Given the description of an element on the screen output the (x, y) to click on. 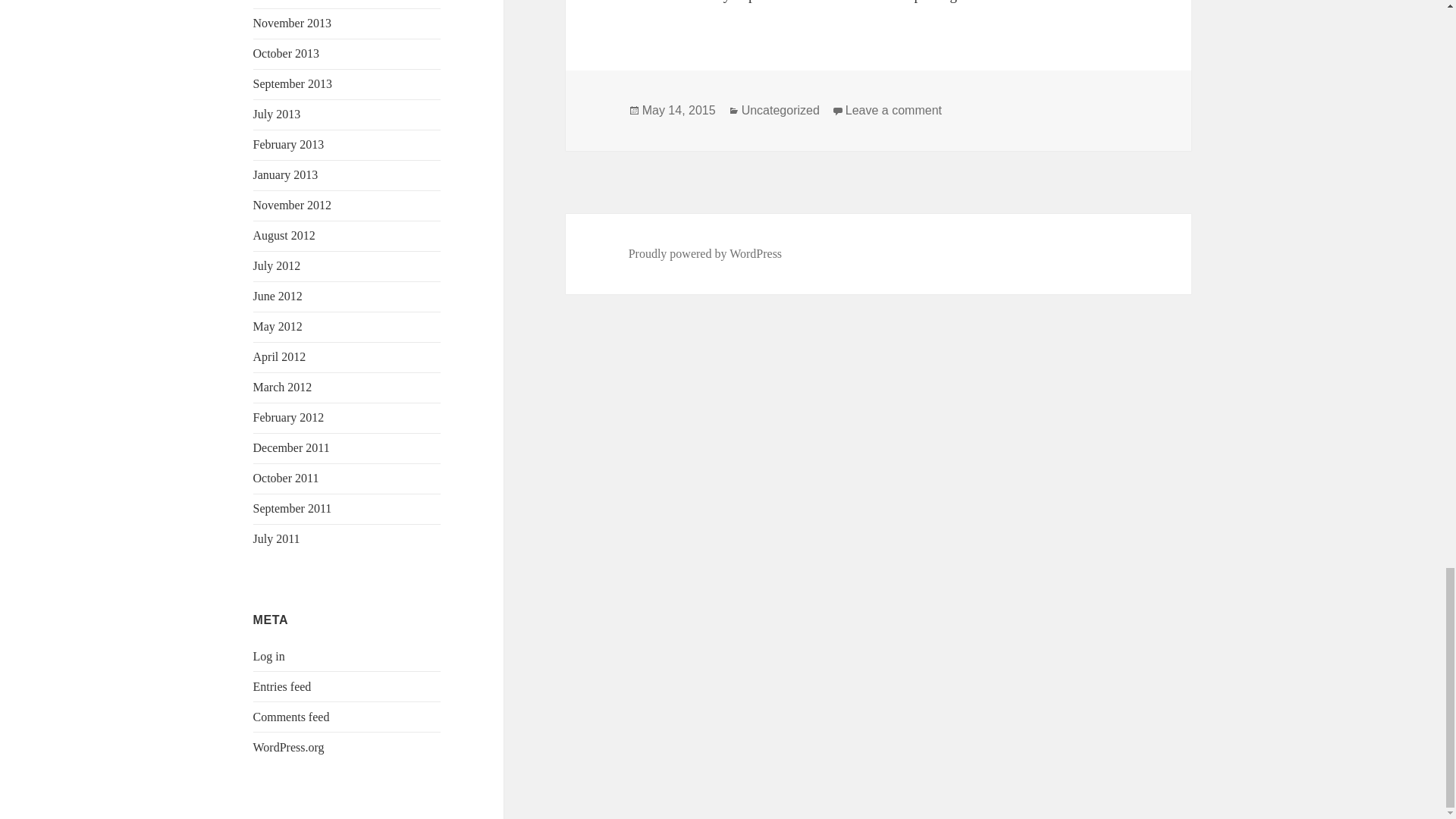
October 2013 (286, 52)
September 2013 (292, 83)
July 2013 (277, 113)
November 2013 (292, 22)
